Given the description of an element on the screen output the (x, y) to click on. 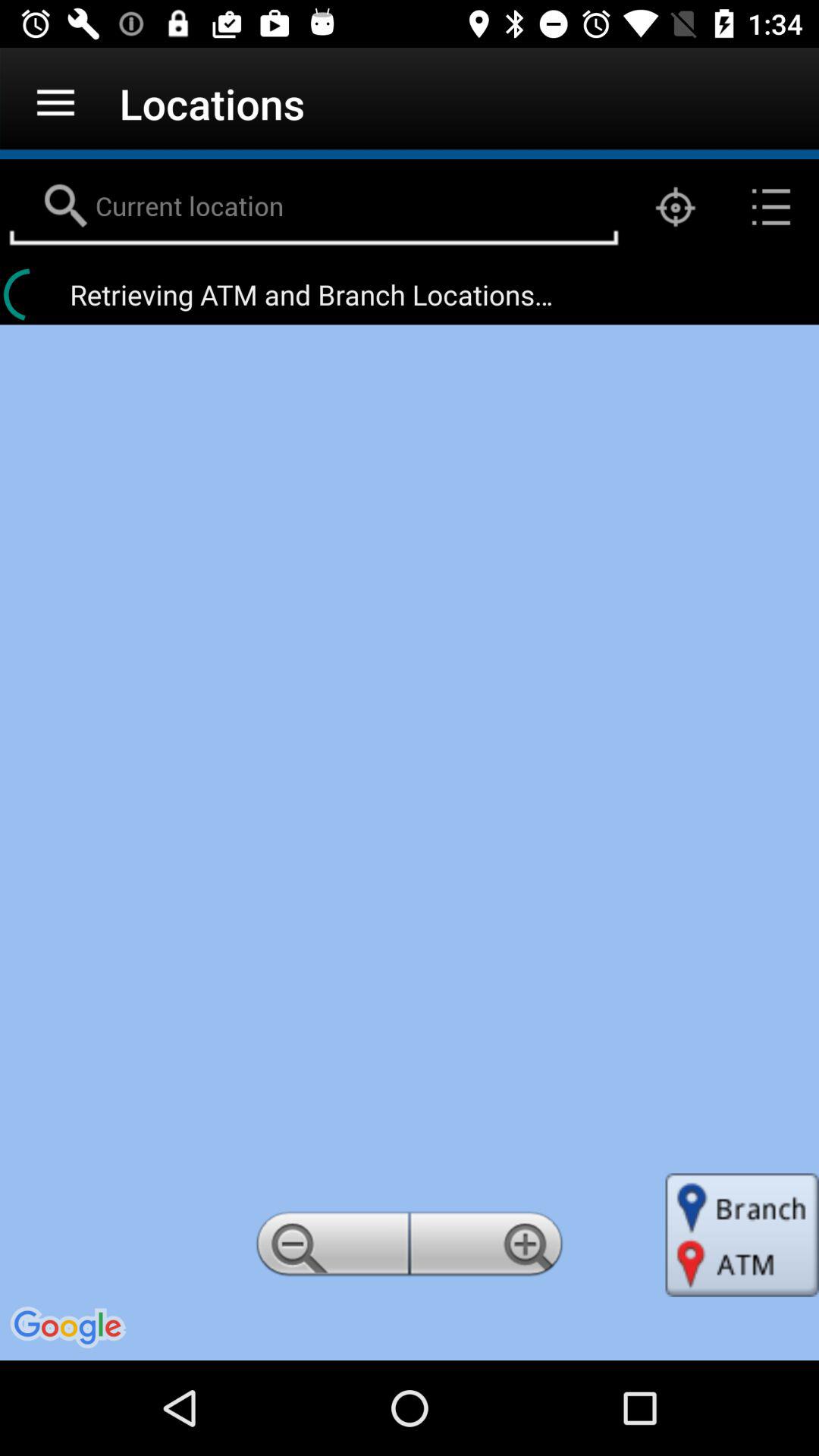
search option (313, 206)
